Given the description of an element on the screen output the (x, y) to click on. 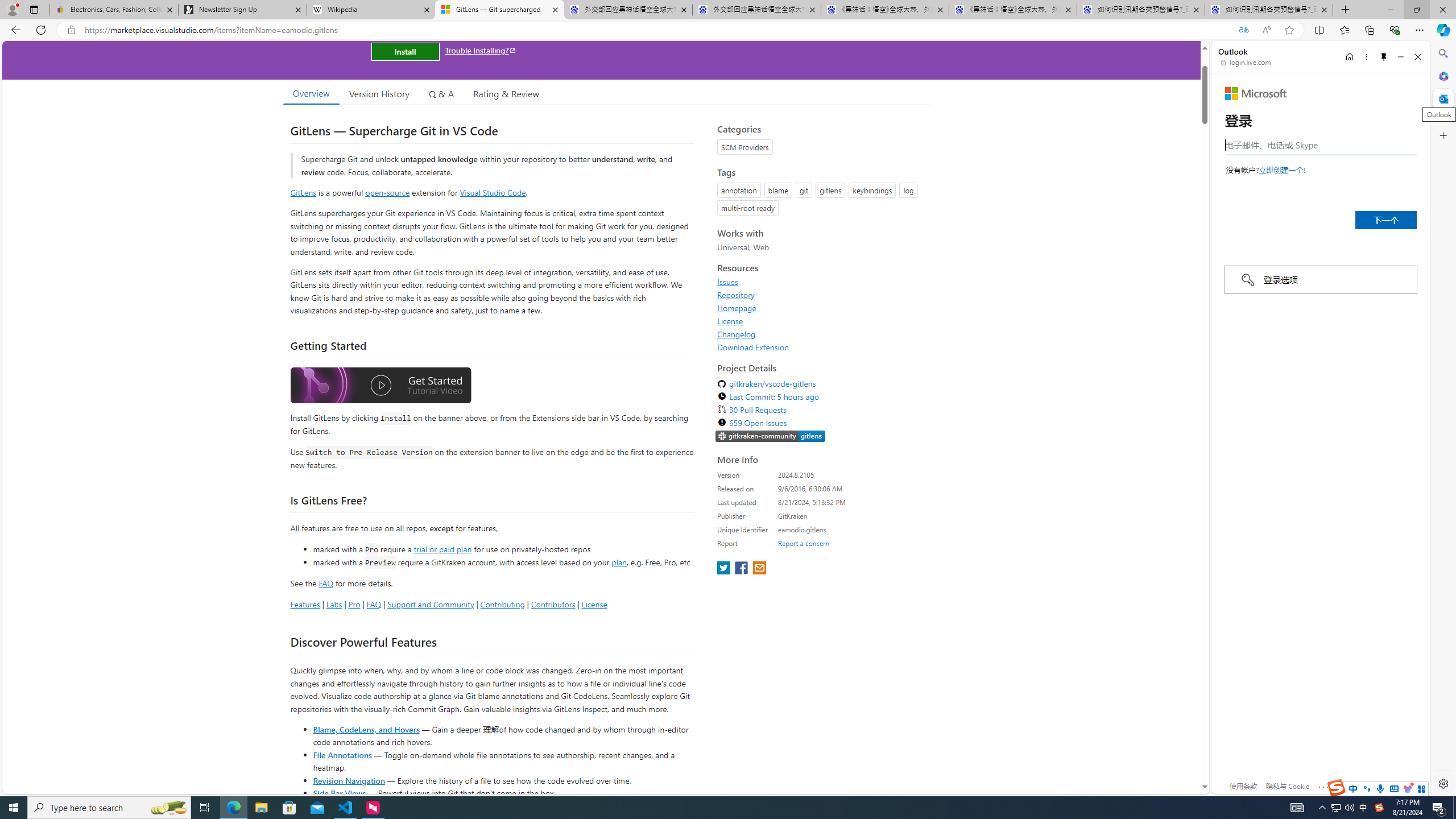
Repository (735, 294)
Wikipedia (370, 9)
Changelog (820, 333)
Watch the GitLens Getting Started video (380, 385)
Blame, CodeLens, and Hovers (366, 728)
open-source (387, 192)
Revision Navigation (348, 780)
Support and Community (430, 603)
